Given the description of an element on the screen output the (x, y) to click on. 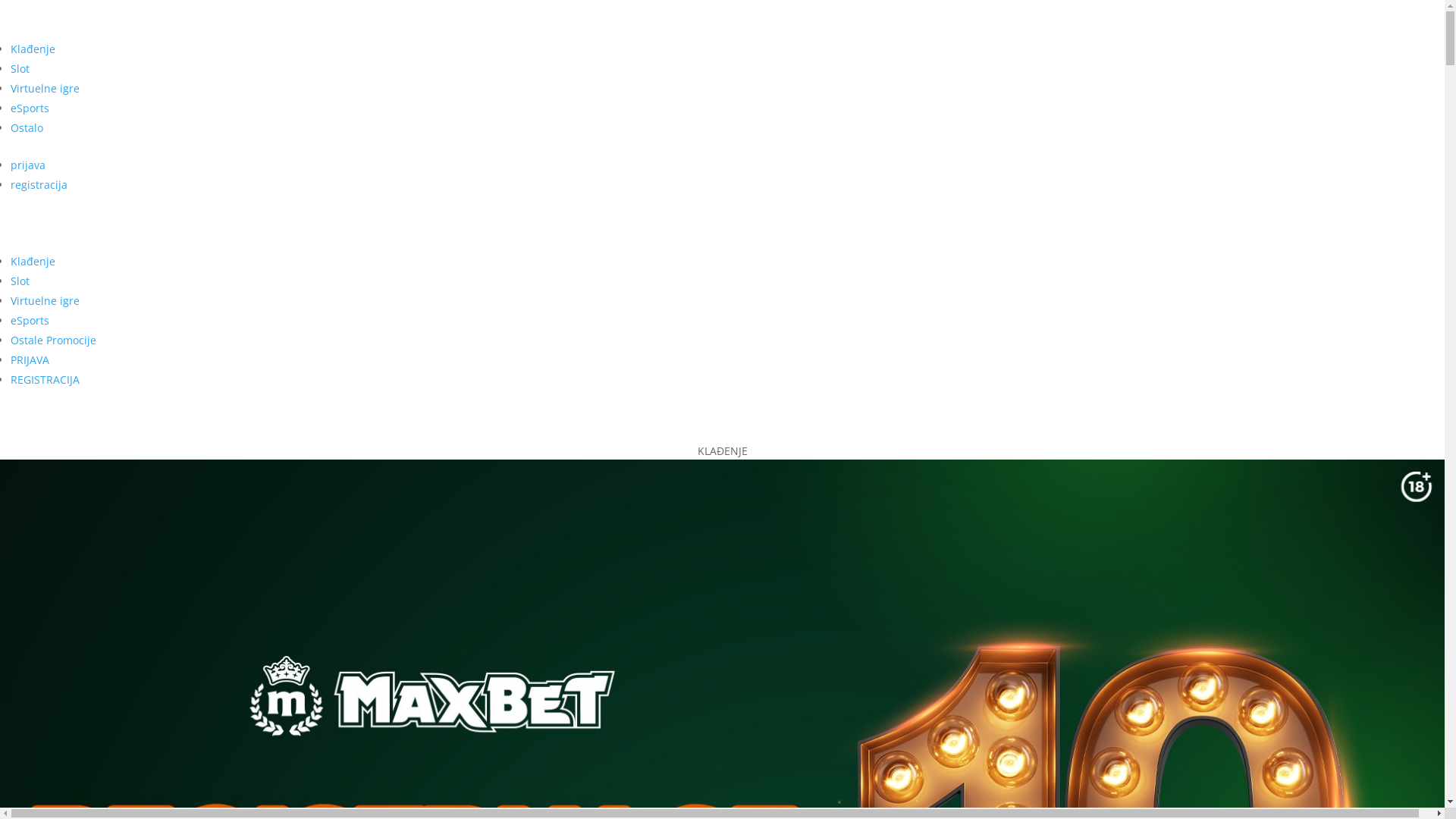
Virtuelne igre Element type: text (44, 300)
PRIJAVA Element type: text (29, 359)
Slot Element type: text (19, 68)
Ostale Promocije Element type: text (53, 339)
eSports Element type: text (29, 107)
prijava Element type: text (27, 164)
REGISTRACIJA Element type: text (44, 379)
Ostalo Element type: text (26, 127)
eSports Element type: text (29, 320)
registracija Element type: text (38, 184)
Virtuelne igre Element type: text (44, 88)
Slot Element type: text (19, 280)
